Given the description of an element on the screen output the (x, y) to click on. 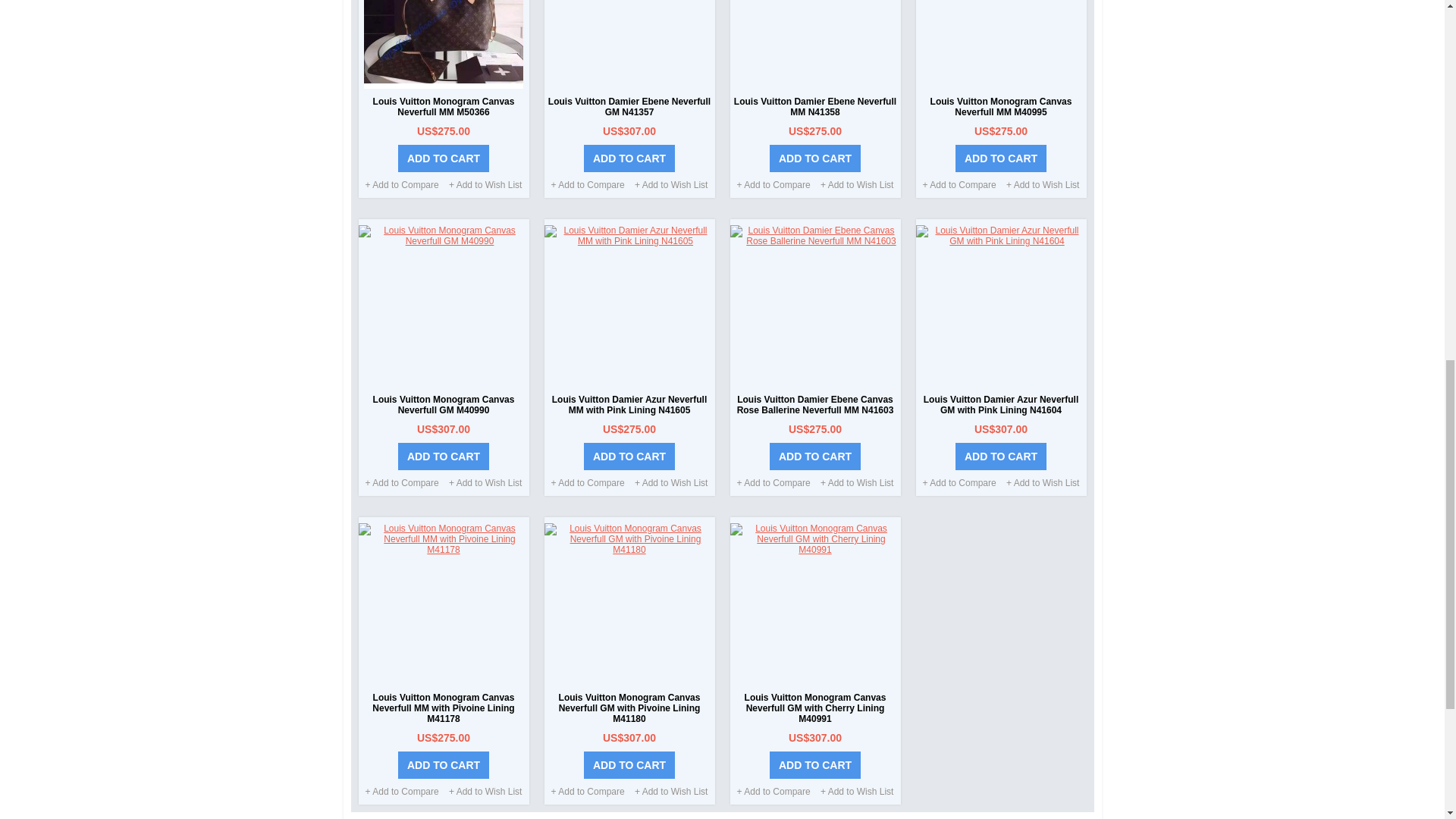
Louis Vuitton Monogram Canvas Neverfull MM M50366 (443, 106)
Louis Vuitton Damier Ebene Neverfull GM N41357 (629, 106)
